Given the description of an element on the screen output the (x, y) to click on. 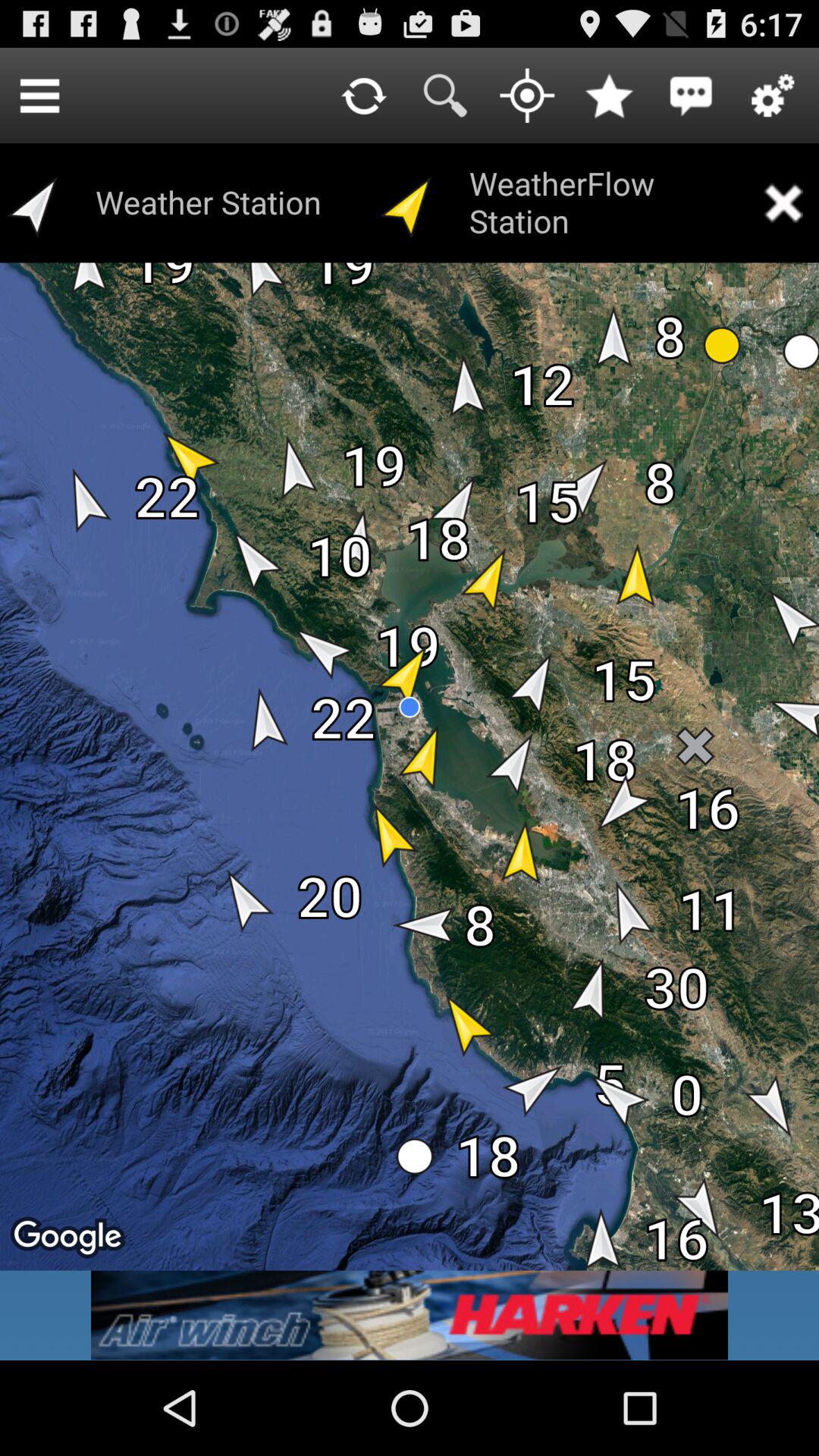
press icon next to the weatherflow station app (783, 202)
